Given the description of an element on the screen output the (x, y) to click on. 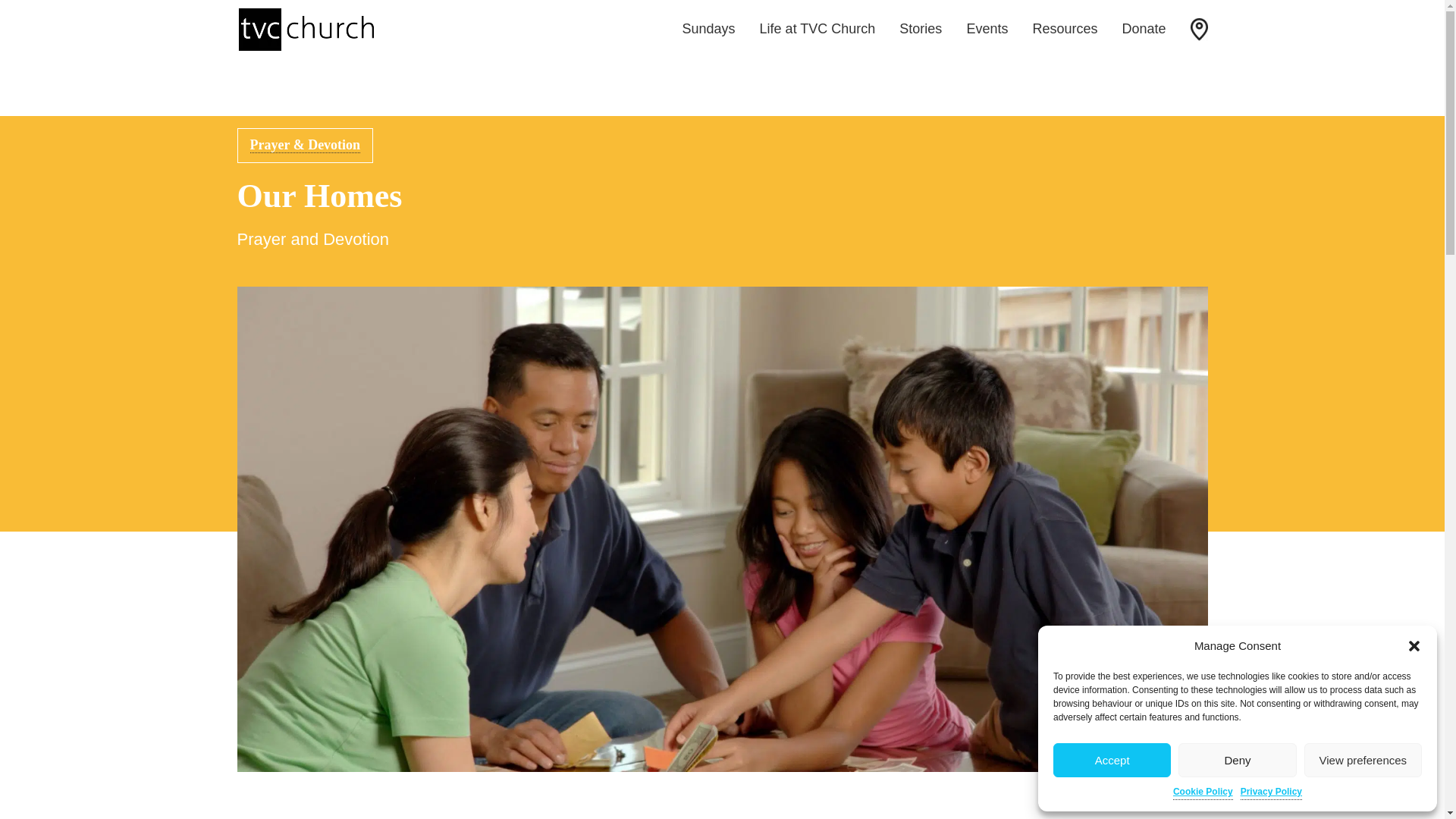
Privacy Policy (1270, 792)
View preferences (1363, 759)
Sundays (708, 29)
Events (986, 29)
Deny (1236, 759)
Accept (1111, 759)
TVC Church (304, 28)
Life at TVC Church (818, 29)
Cookie Policy (1203, 792)
Donate (1143, 29)
